Given the description of an element on the screen output the (x, y) to click on. 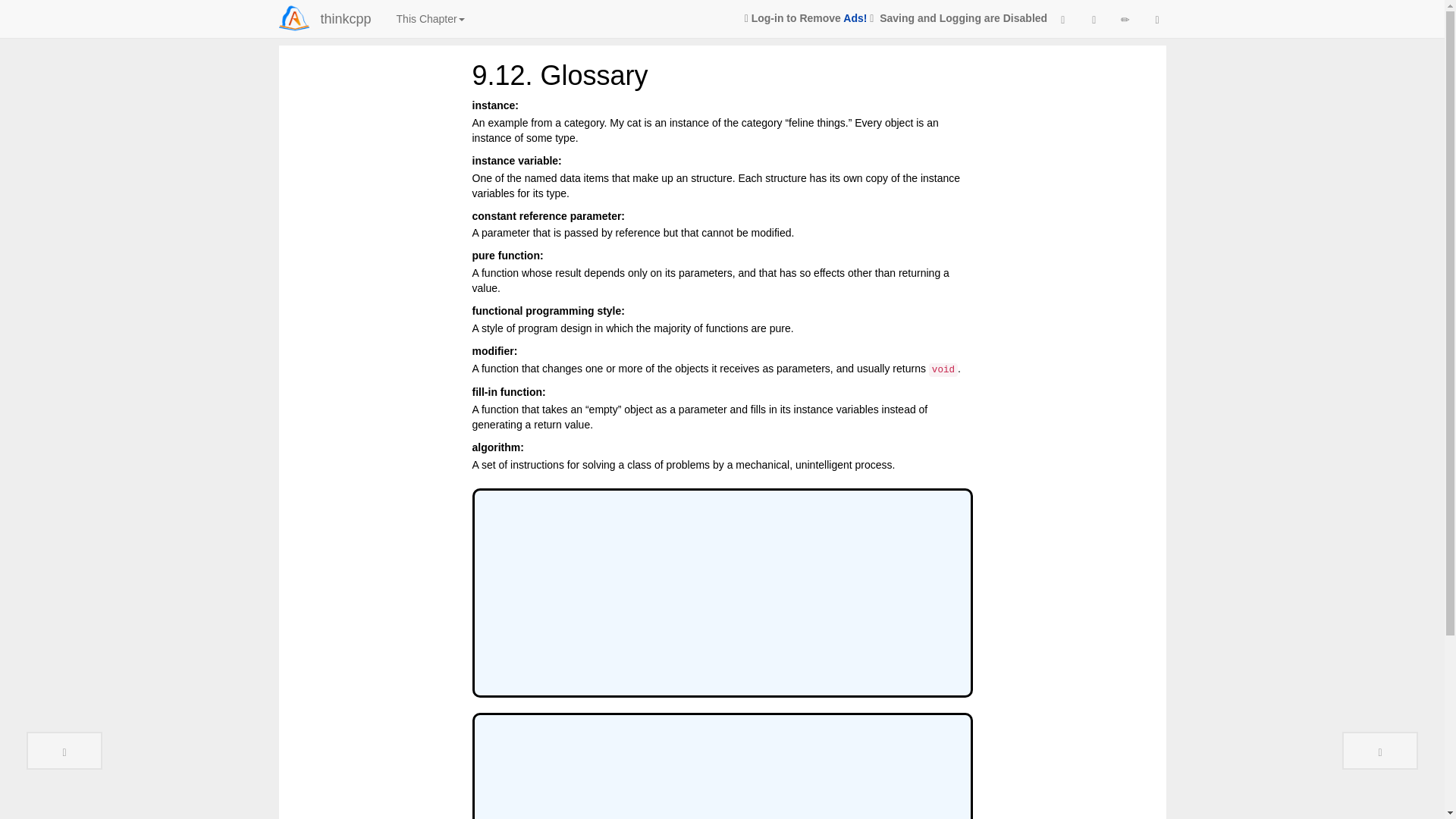
Previous Section - 9.11. Algorithms (63, 750)
thinkcpp (345, 18)
Ads! (854, 18)
This Chapter (430, 18)
Next Section - 9.13. Multiple Choice Exercises (1380, 750)
